Given the description of an element on the screen output the (x, y) to click on. 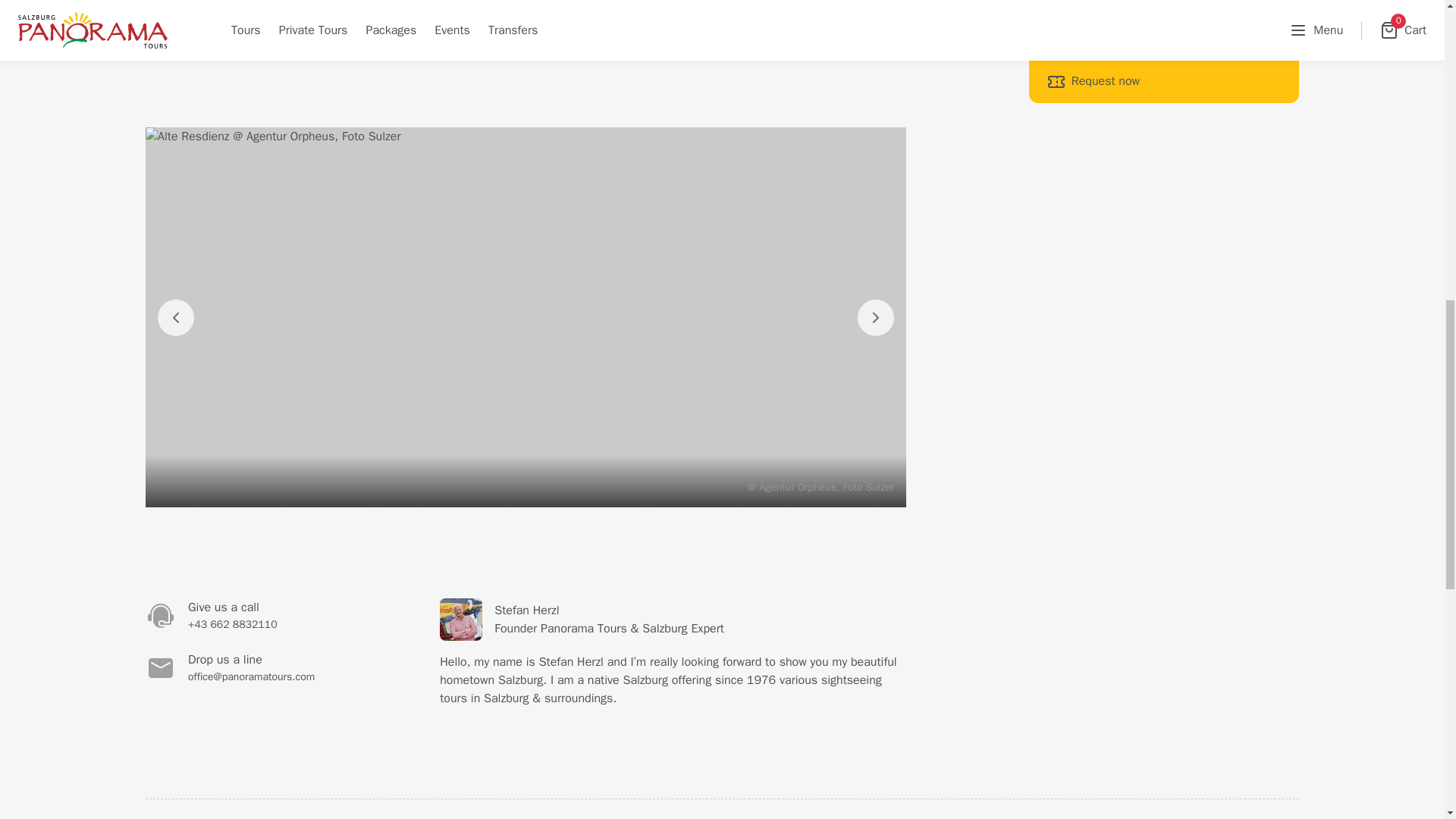
website of Agentur Orpheus (1147, 54)
